Given the description of an element on the screen output the (x, y) to click on. 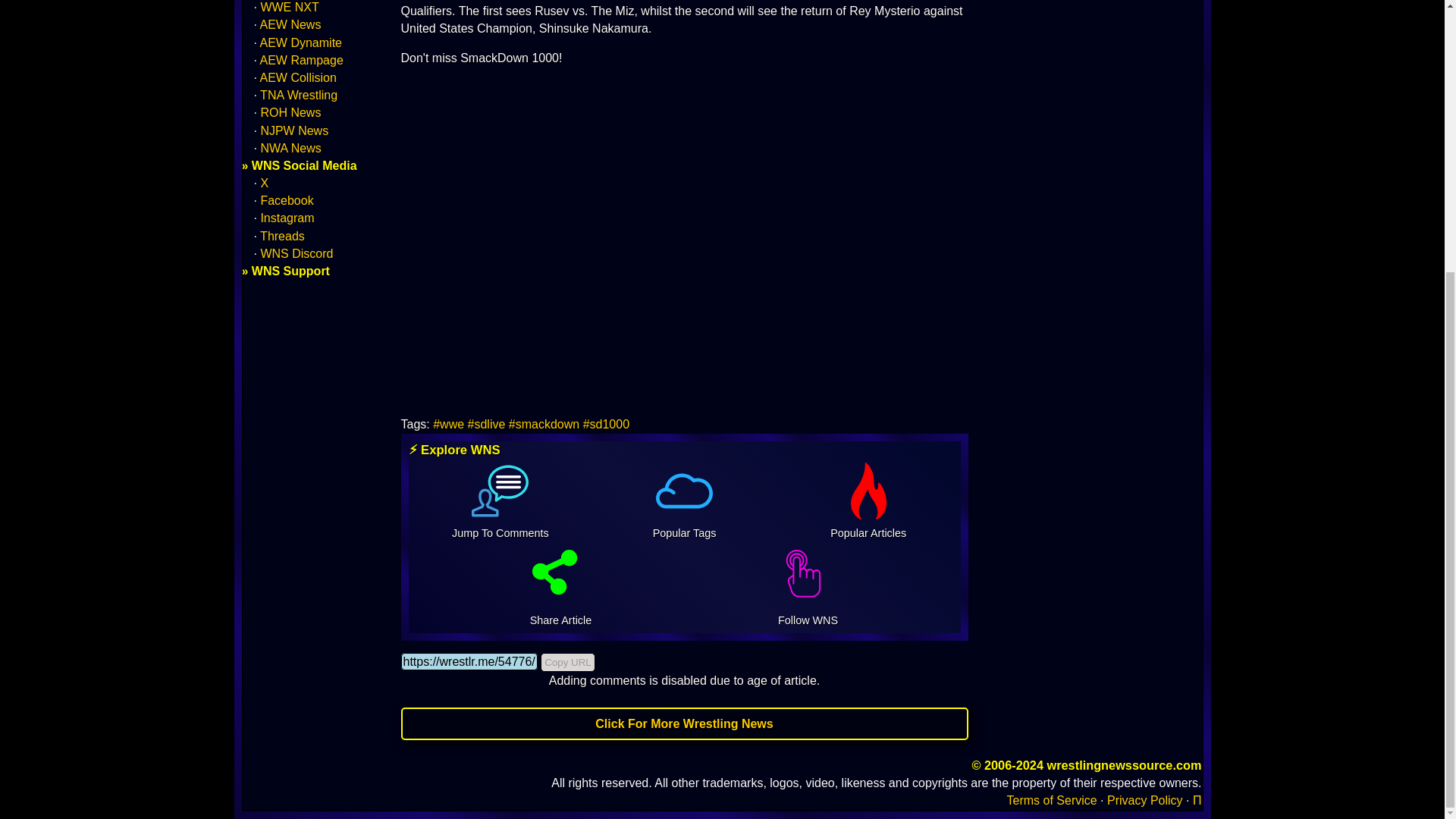
AEW News (290, 24)
Threads (282, 236)
AEW Collision (298, 77)
AEW Rampage (301, 60)
TNA Wrestling (298, 94)
AEW Dynamite (301, 42)
ROH News (290, 112)
NJPW News (294, 130)
NWA News (290, 147)
Instagram (287, 217)
WWE NXT (289, 6)
Facebook (286, 200)
